Given the description of an element on the screen output the (x, y) to click on. 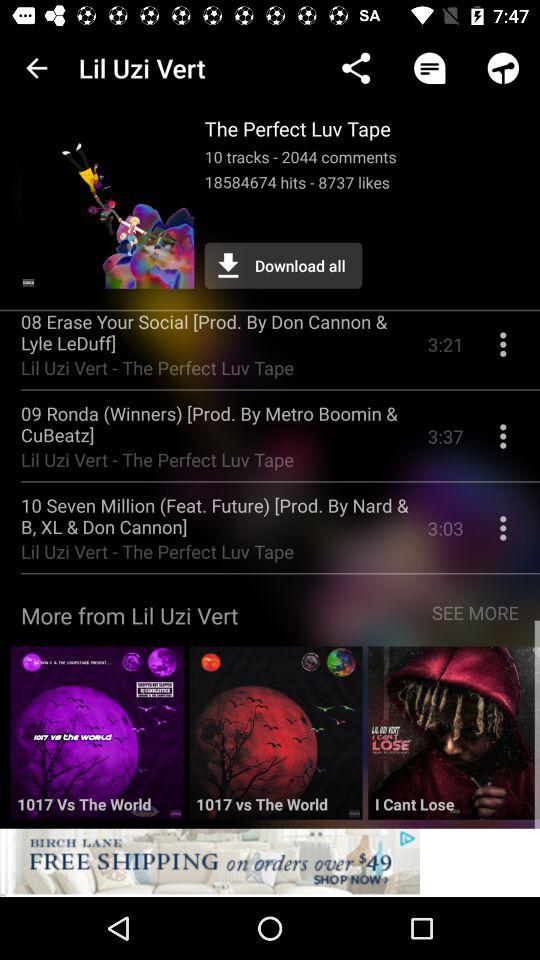
open context menu (503, 443)
